Given the description of an element on the screen output the (x, y) to click on. 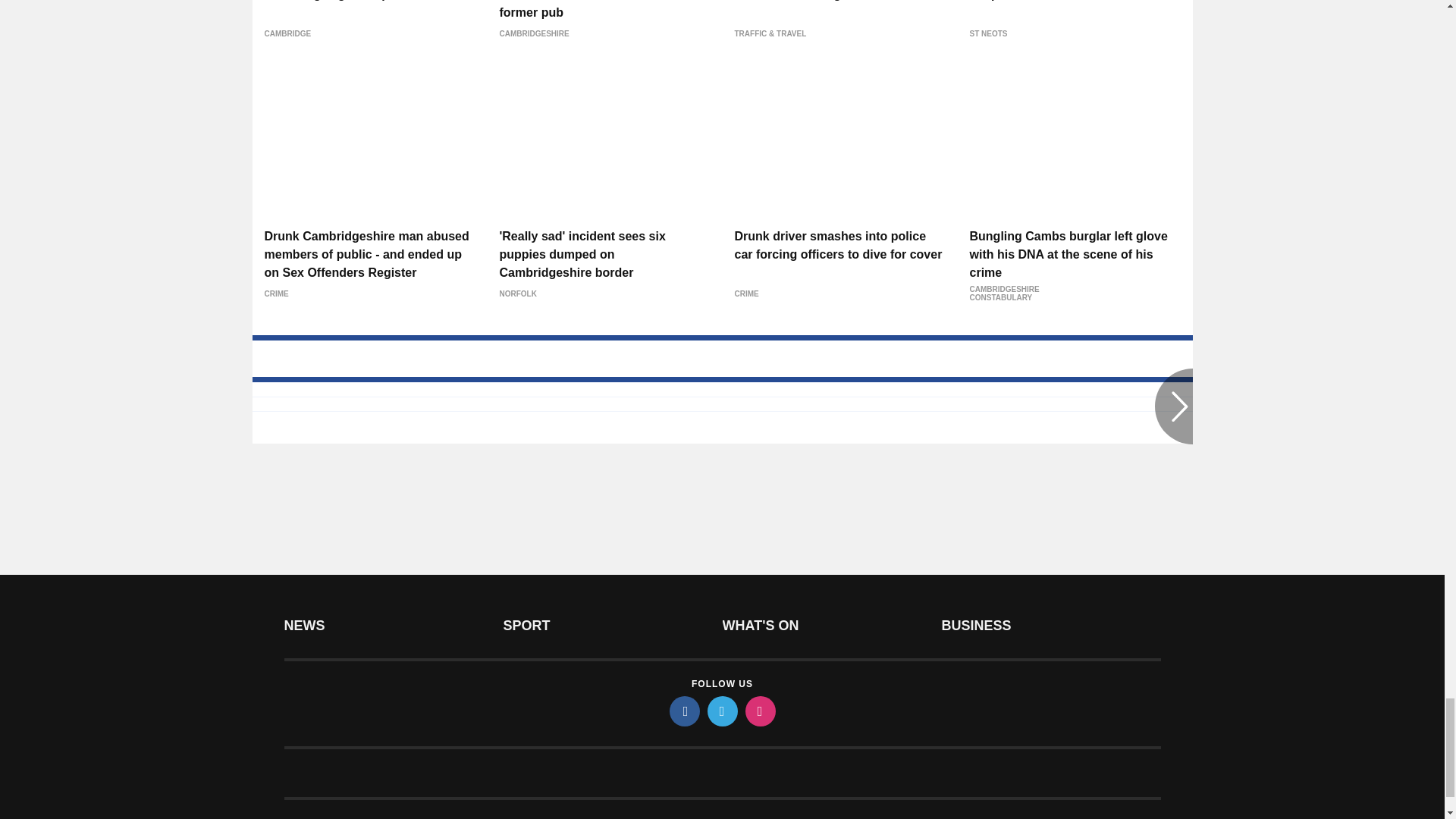
facebook (683, 711)
twitter (721, 711)
instagram (759, 711)
